Given the description of an element on the screen output the (x, y) to click on. 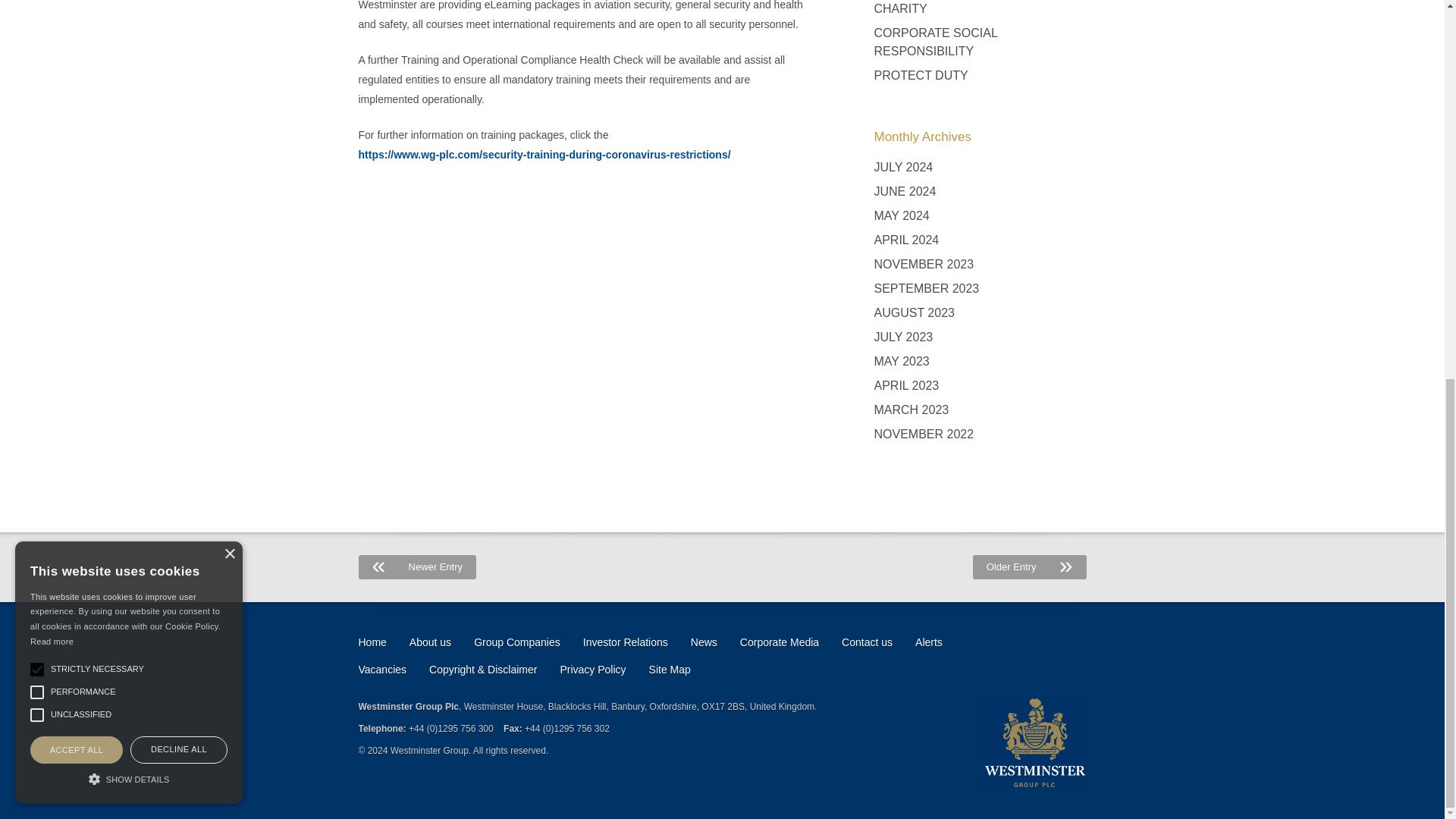
Westminster Group Corporate (1034, 742)
JUNE 2024 (904, 191)
CORPORATE SOCIAL RESPONSIBILITY (979, 42)
CHARITY (899, 10)
PROTECT DUTY (920, 75)
MAY 2024 (900, 215)
NOVEMBER 2023 (923, 264)
JULY 2024 (903, 167)
APRIL 2024 (906, 240)
